Given the description of an element on the screen output the (x, y) to click on. 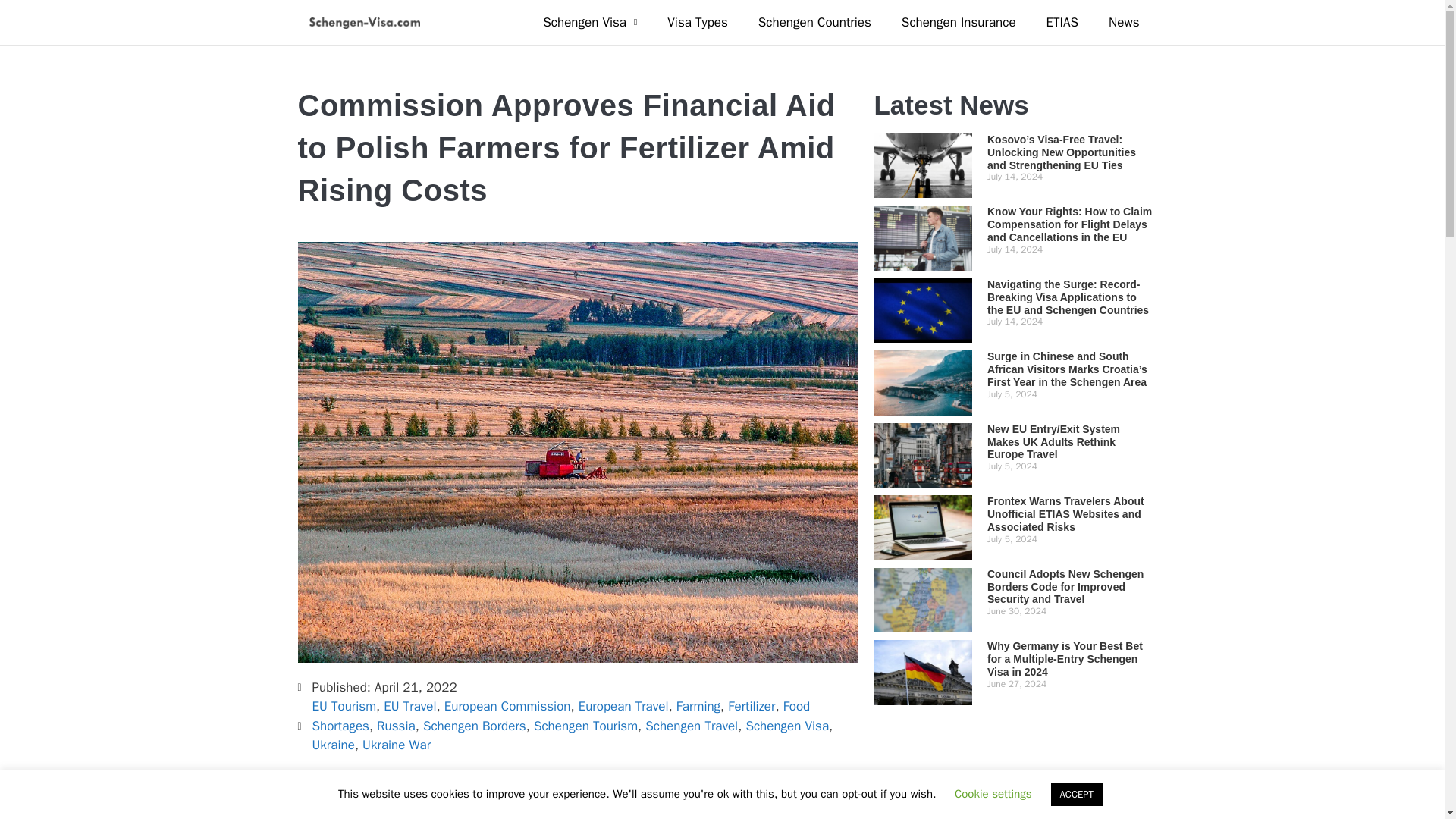
Schengen Insurance (958, 22)
News (1123, 22)
Schengen Visa (589, 22)
Schengen Countries (814, 22)
Visa Types (697, 22)
ETIAS (1061, 22)
